Given the description of an element on the screen output the (x, y) to click on. 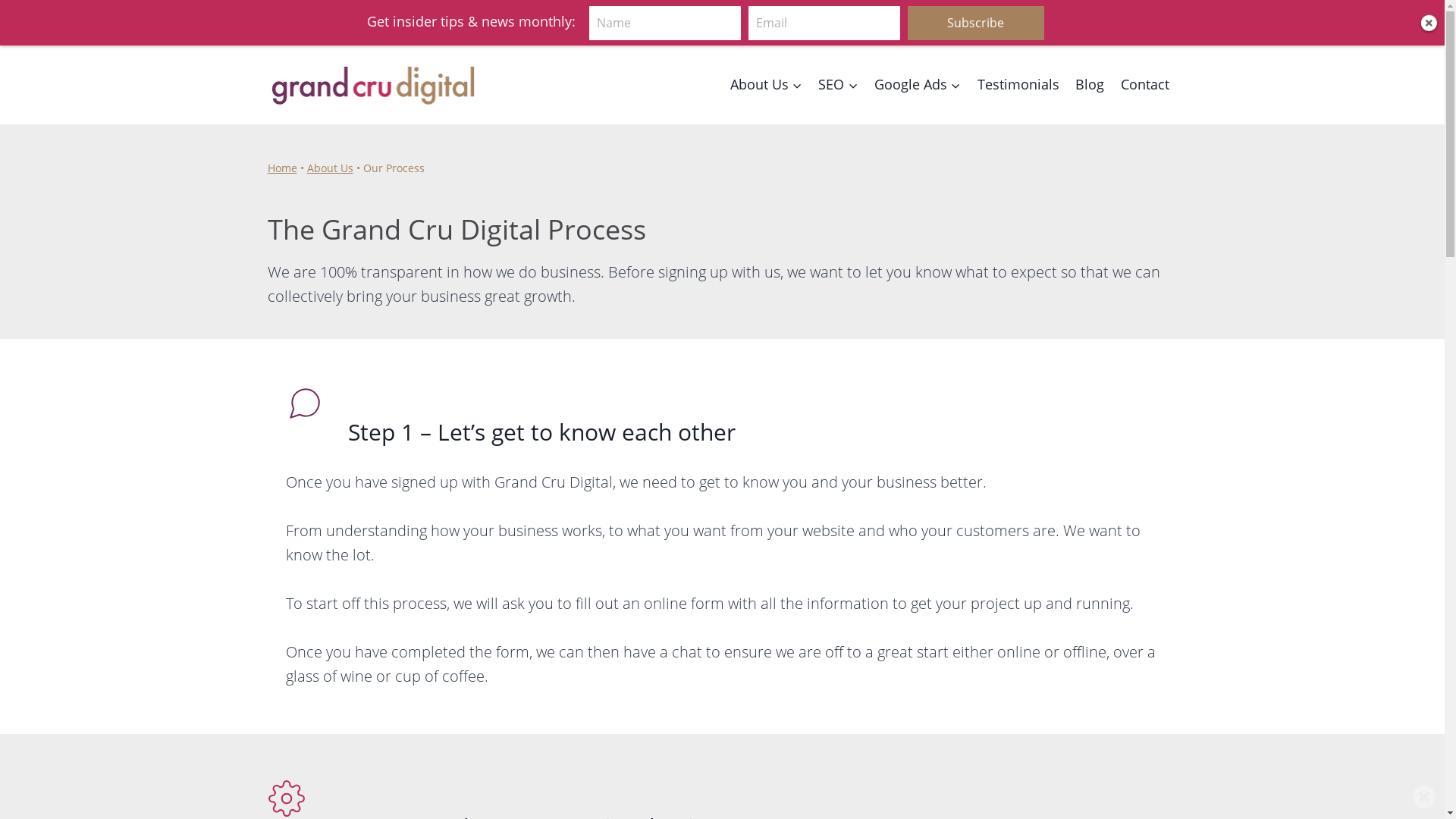
SEO Element type: text (838, 50)
Google Ads Element type: text (917, 55)
Contact Element type: text (1144, 64)
Testimonials Element type: text (1018, 60)
Home Element type: text (281, 151)
Subscribe Element type: text (974, 23)
Blog Element type: text (1089, 62)
About Us Element type: text (329, 152)
About Us Element type: text (765, 43)
